Given the description of an element on the screen output the (x, y) to click on. 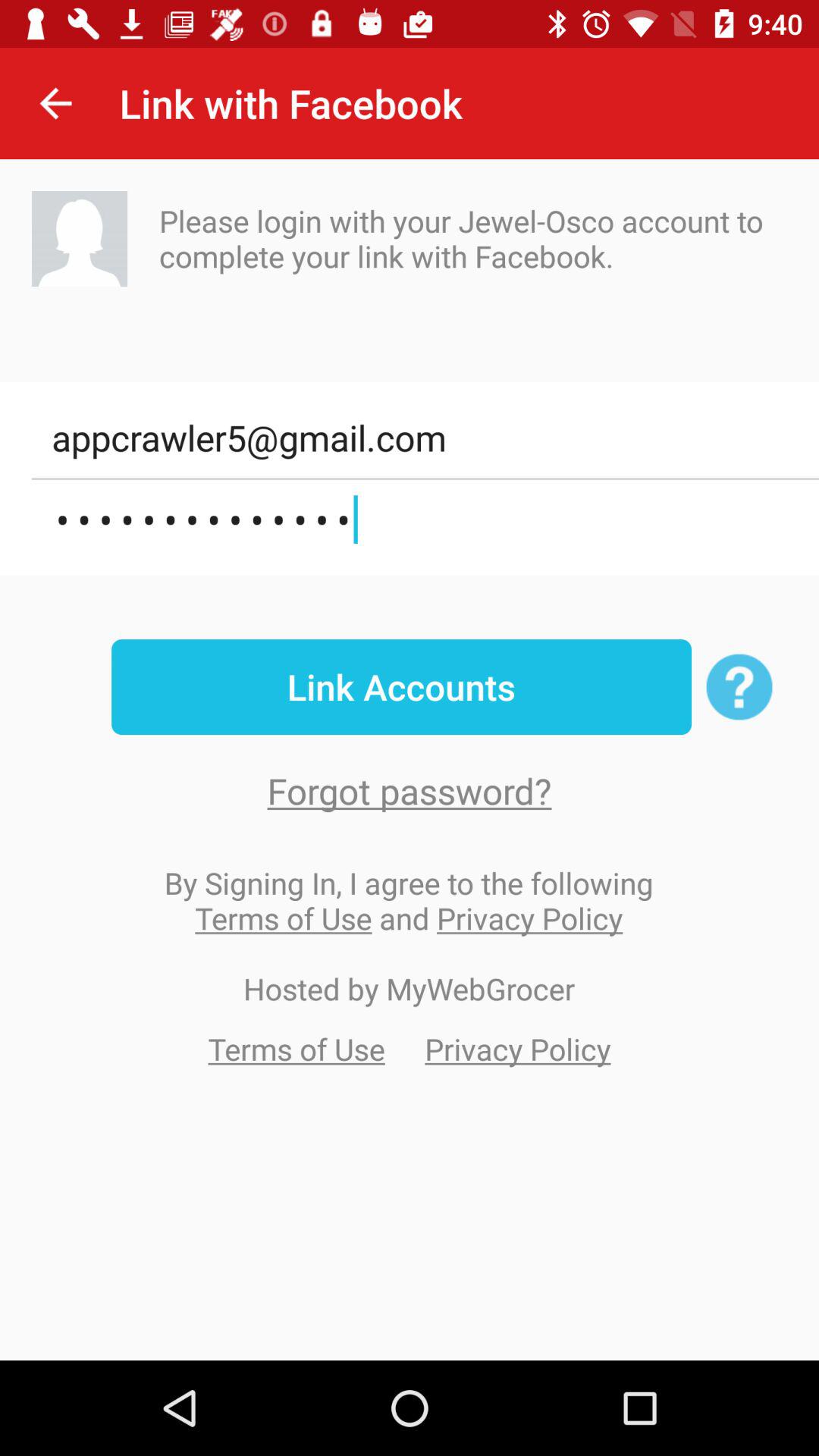
select the item to the left of the link with facebook item (55, 103)
